Given the description of an element on the screen output the (x, y) to click on. 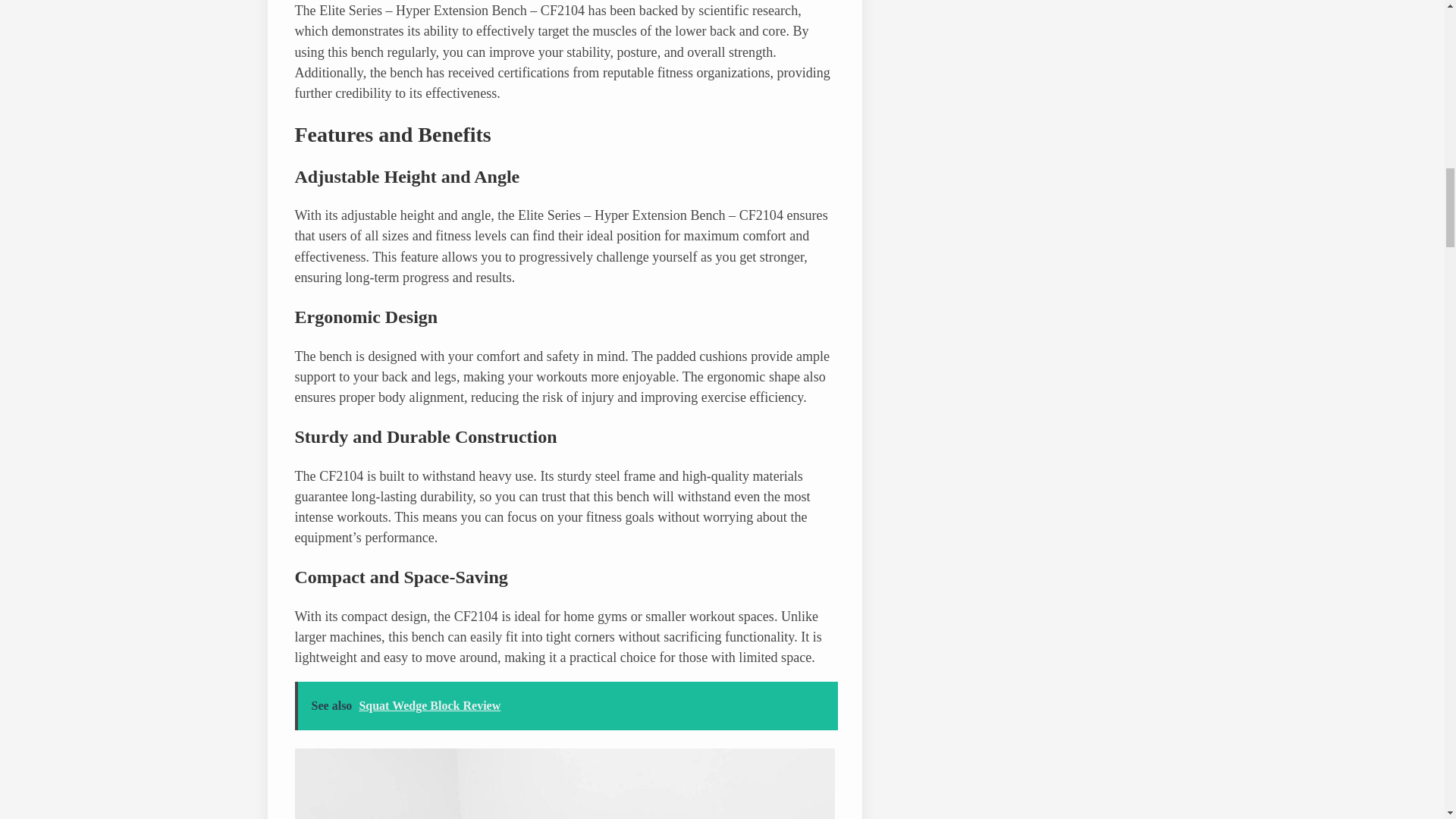
Elite Series - Hyper Extension Bench - CF2104 (564, 783)
